Given the description of an element on the screen output the (x, y) to click on. 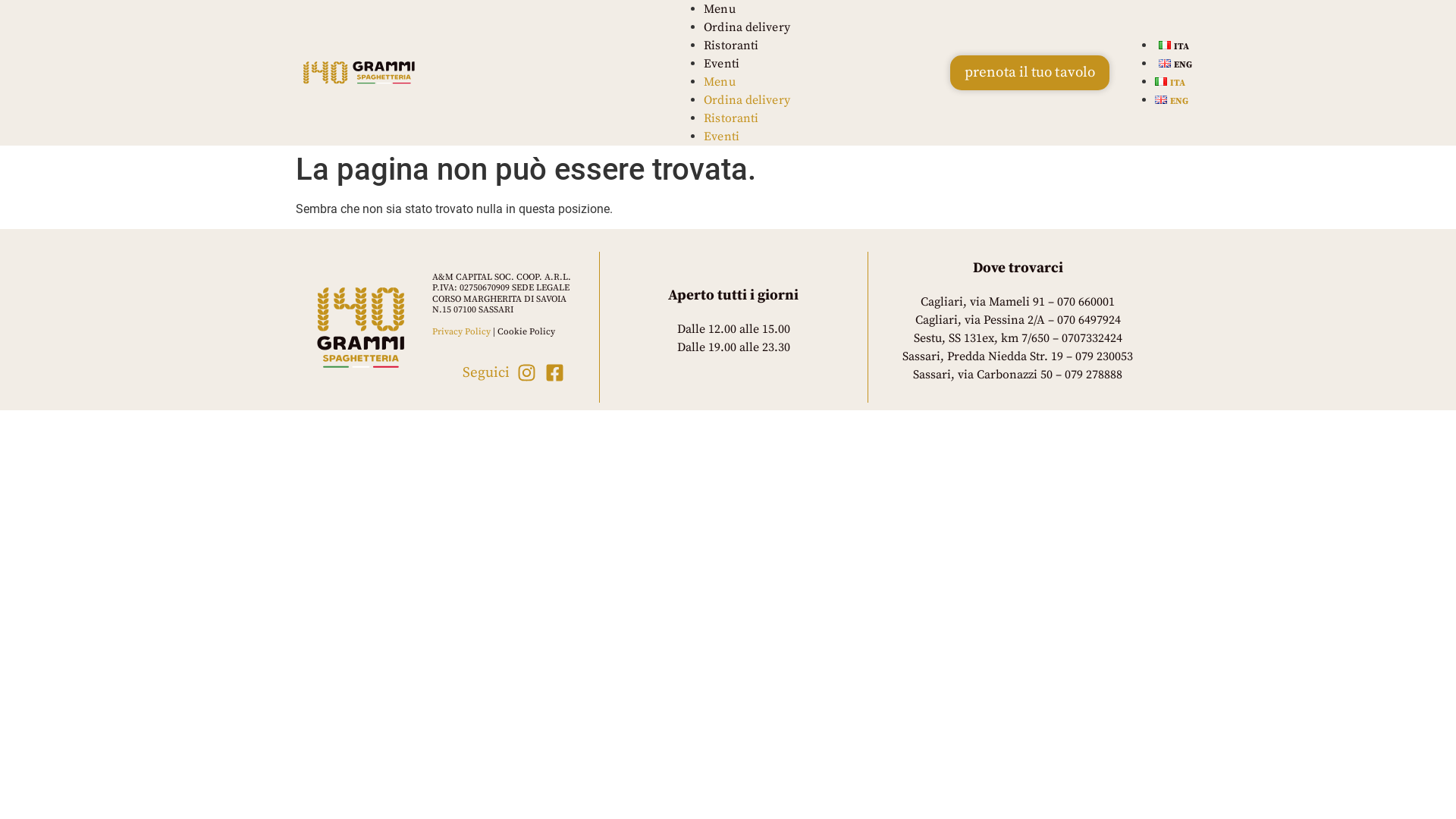
ITA Element type: text (1169, 82)
Menu Element type: text (718, 8)
ENG Element type: text (1174, 64)
Ristoranti Element type: text (730, 117)
ENG Element type: text (1171, 100)
Eventi Element type: text (721, 136)
Menu Element type: text (718, 81)
Ordina delivery Element type: text (746, 26)
Privacy Policy Element type: text (461, 331)
ITA Element type: text (1173, 46)
Ordina delivery Element type: text (746, 99)
Ristoranti Element type: text (730, 45)
prenota il tuo tavolo Element type: text (1029, 72)
Eventi Element type: text (721, 63)
